Given the description of an element on the screen output the (x, y) to click on. 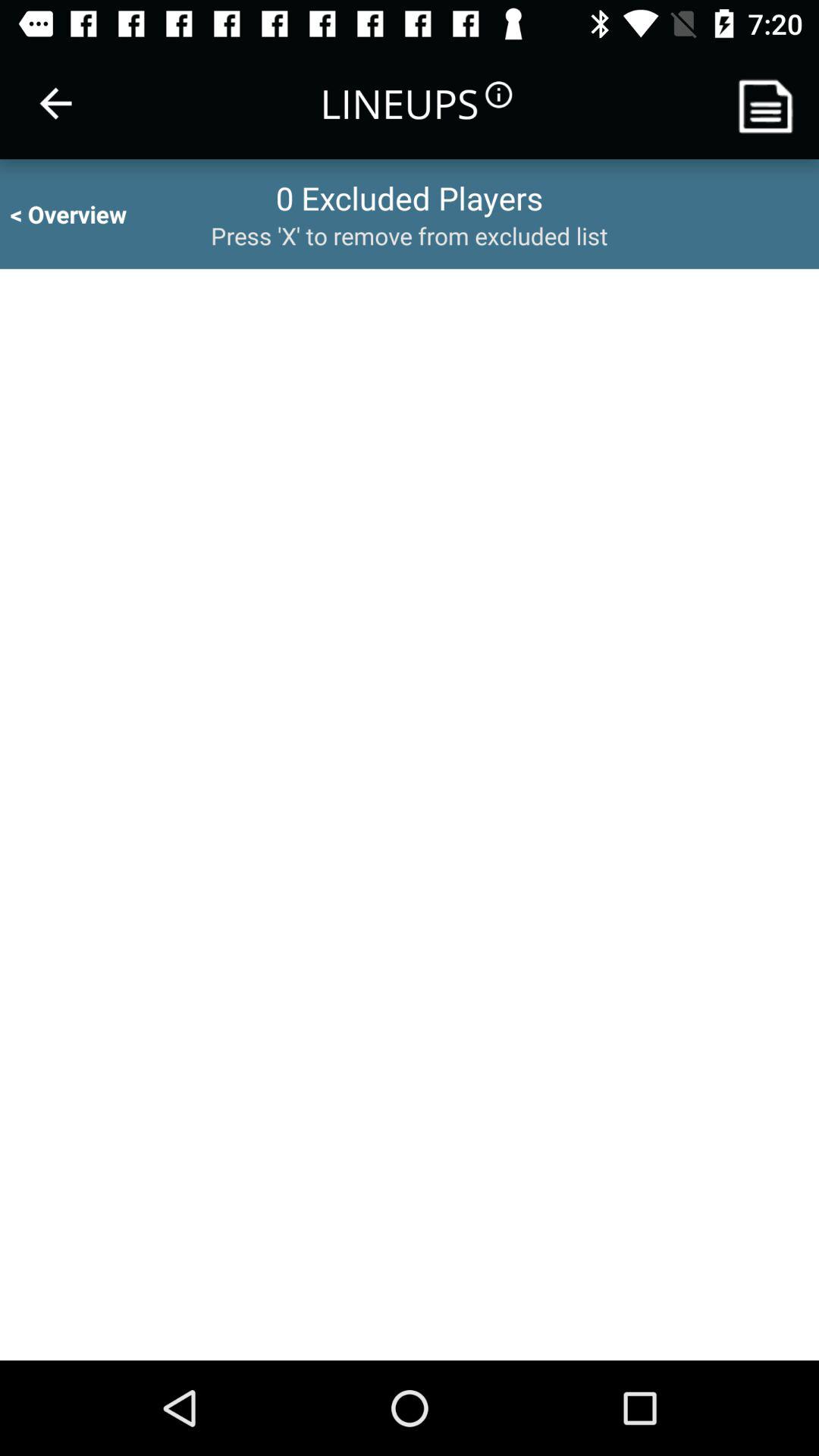
press item next to lineups (55, 103)
